Given the description of an element on the screen output the (x, y) to click on. 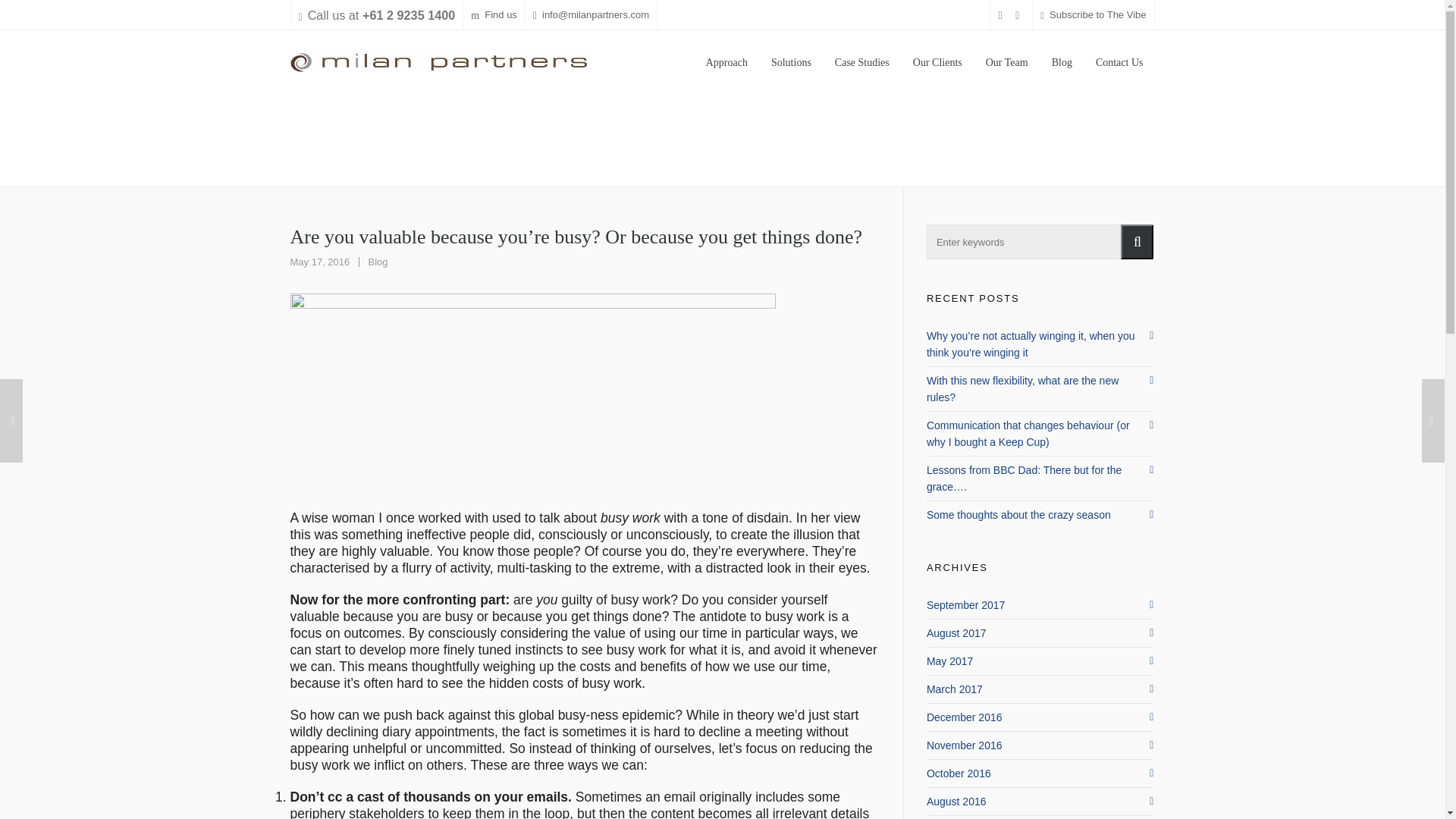
Home (305, 154)
Our Clients (937, 60)
Blog (378, 261)
Subscribe to The Vibe (1093, 15)
Contact Us (1119, 60)
Approach (726, 60)
Solutions (791, 60)
Our Team (1006, 60)
Blog (343, 154)
Case Studies (862, 60)
